Given the description of an element on the screen output the (x, y) to click on. 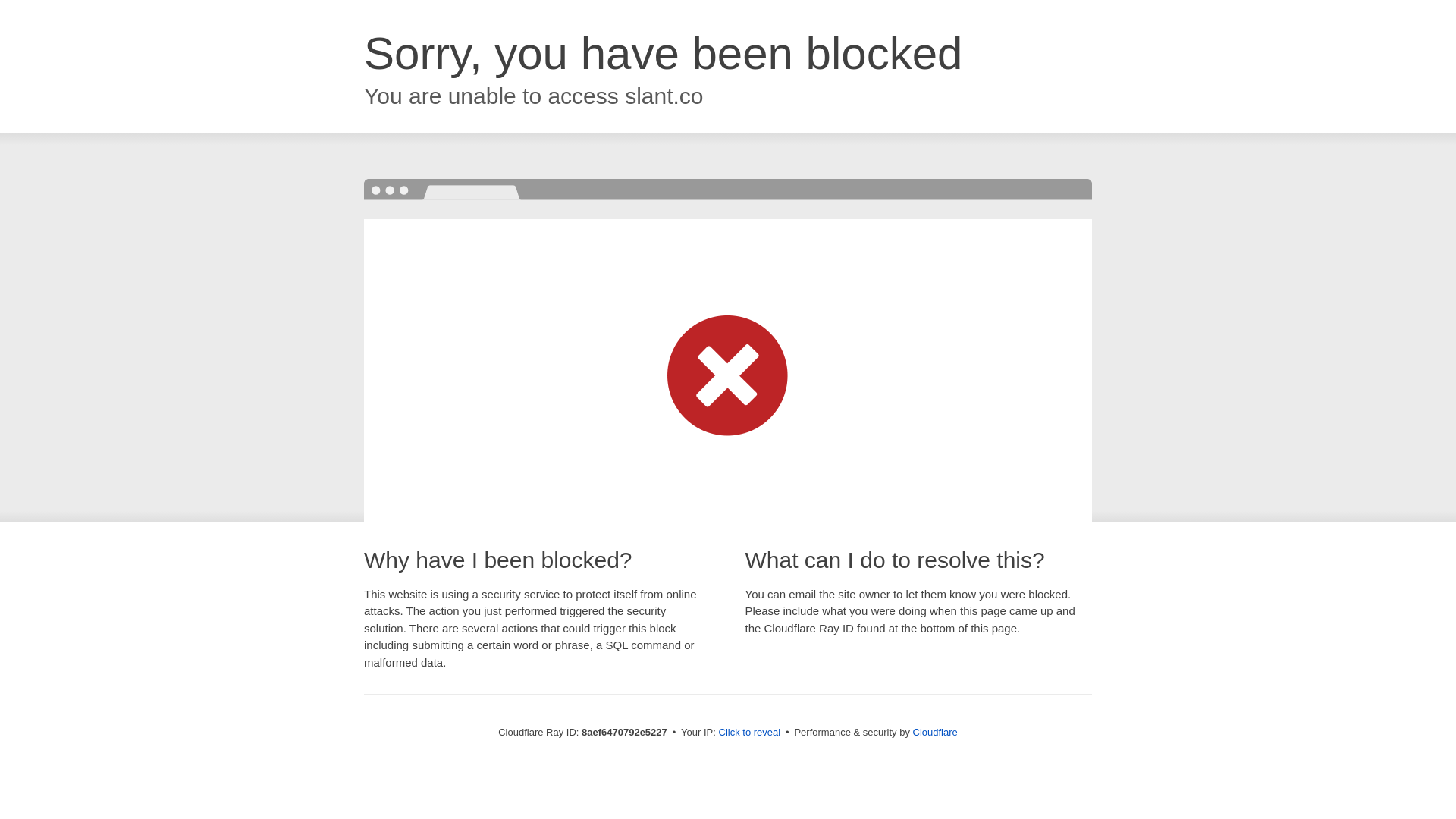
Click to reveal (749, 732)
Cloudflare (935, 731)
